Given the description of an element on the screen output the (x, y) to click on. 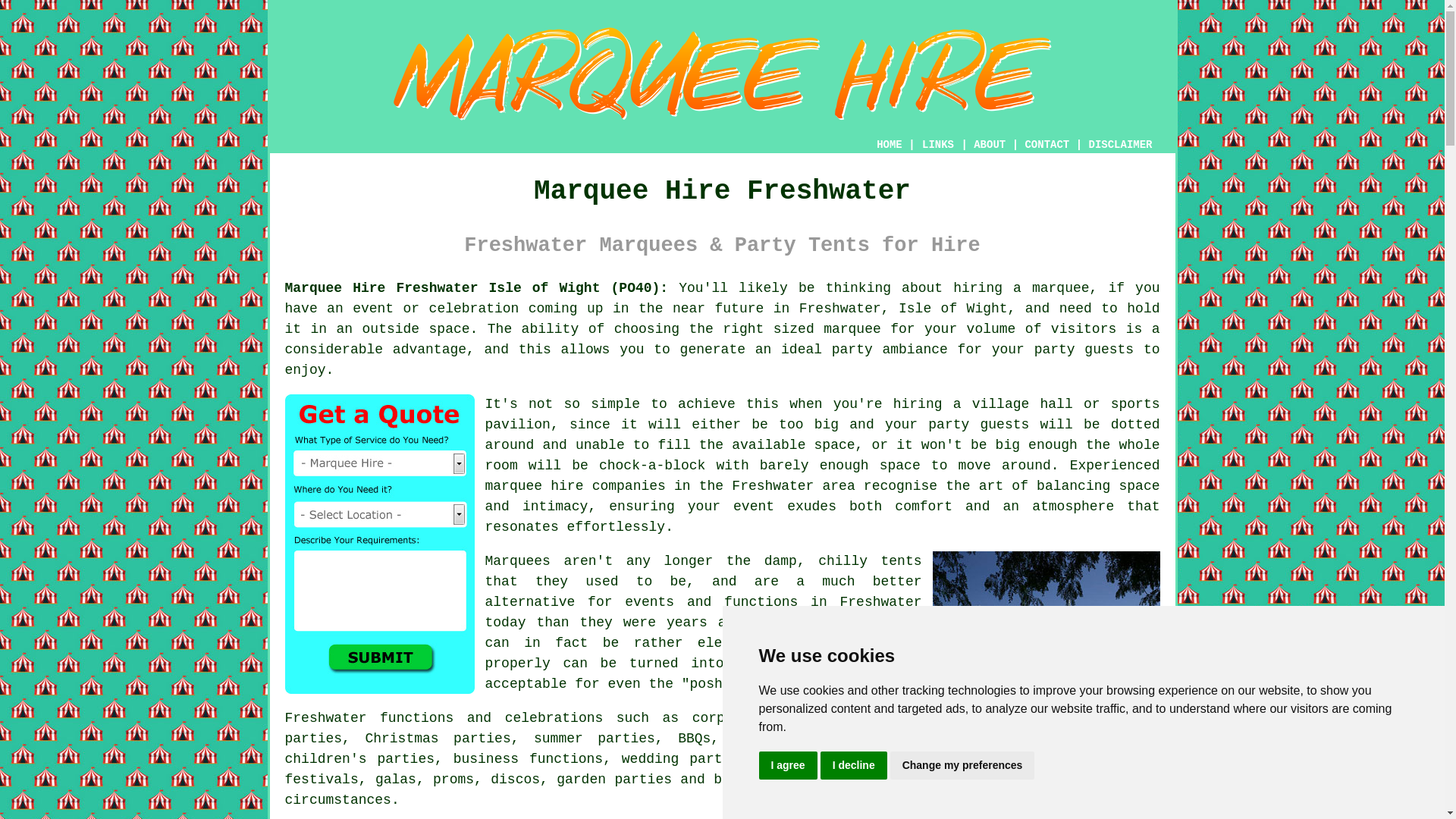
HOME (889, 144)
Change my preferences (962, 765)
marquee (852, 328)
I agree (787, 765)
I decline (853, 765)
LINKS (938, 144)
Marquee Hire Freshwater (722, 73)
hiring a marquee (1021, 287)
